Given the description of an element on the screen output the (x, y) to click on. 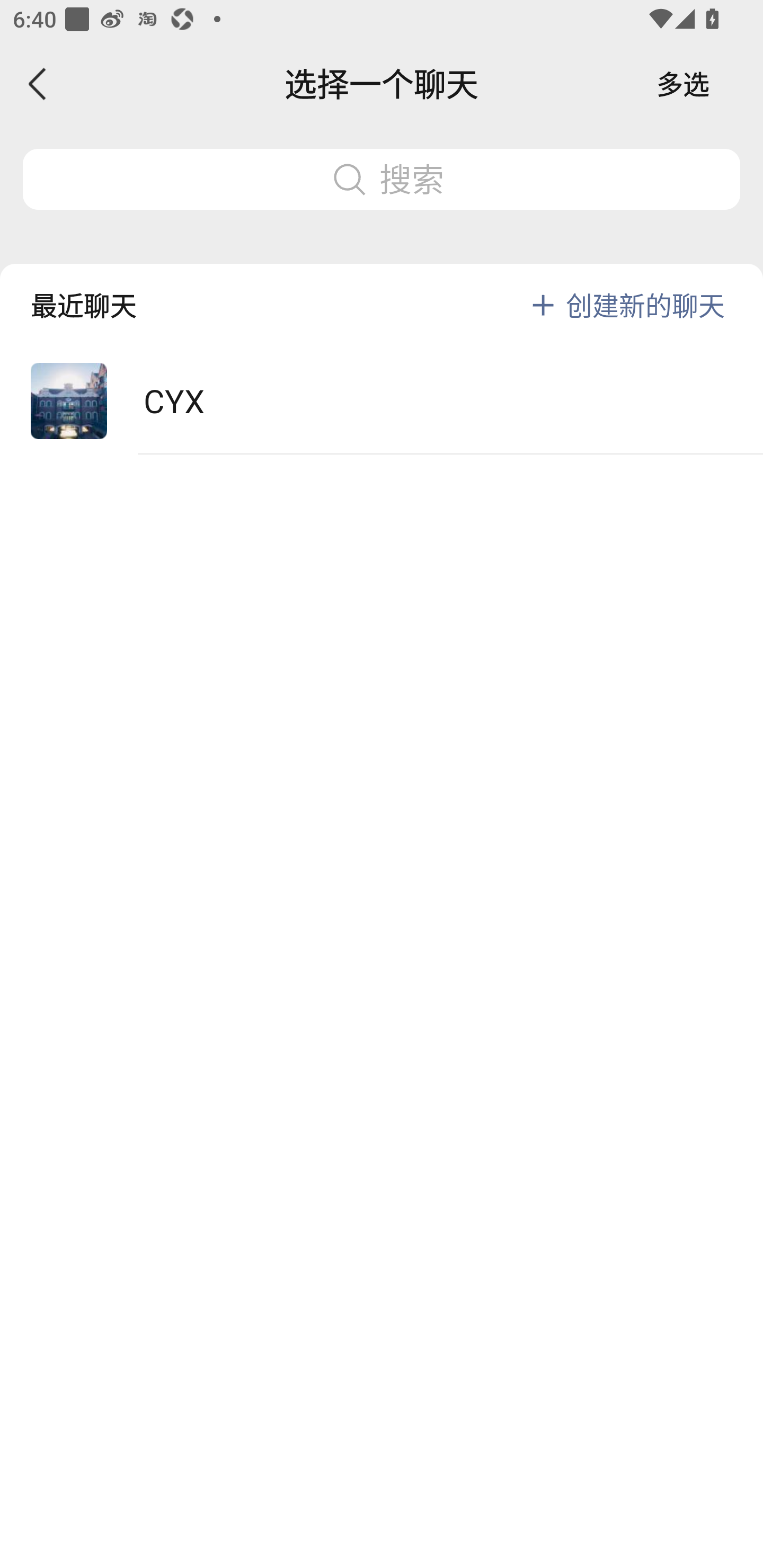
返回 (38, 83)
多选 (683, 83)
创建新的聊天 (645, 304)
CYX (381, 401)
